Given the description of an element on the screen output the (x, y) to click on. 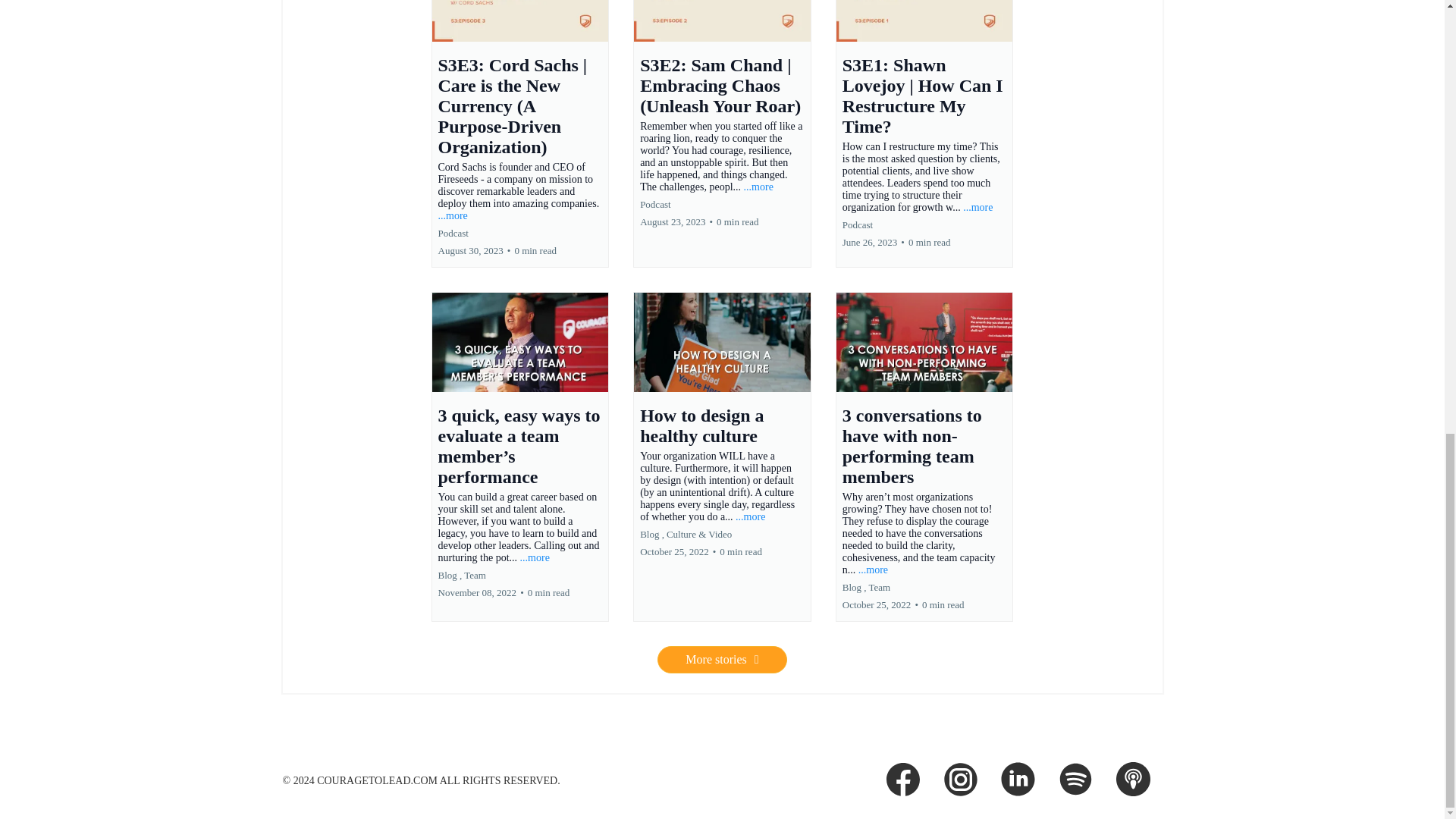
...more (750, 516)
3 conversations to have with non-performing team members (912, 445)
...more (977, 206)
More stories (722, 659)
How to design a healthy culture (701, 425)
COURAGETOLEAD.COM (377, 780)
...more (873, 569)
...more (758, 186)
...more (452, 215)
...more (534, 557)
